Given the description of an element on the screen output the (x, y) to click on. 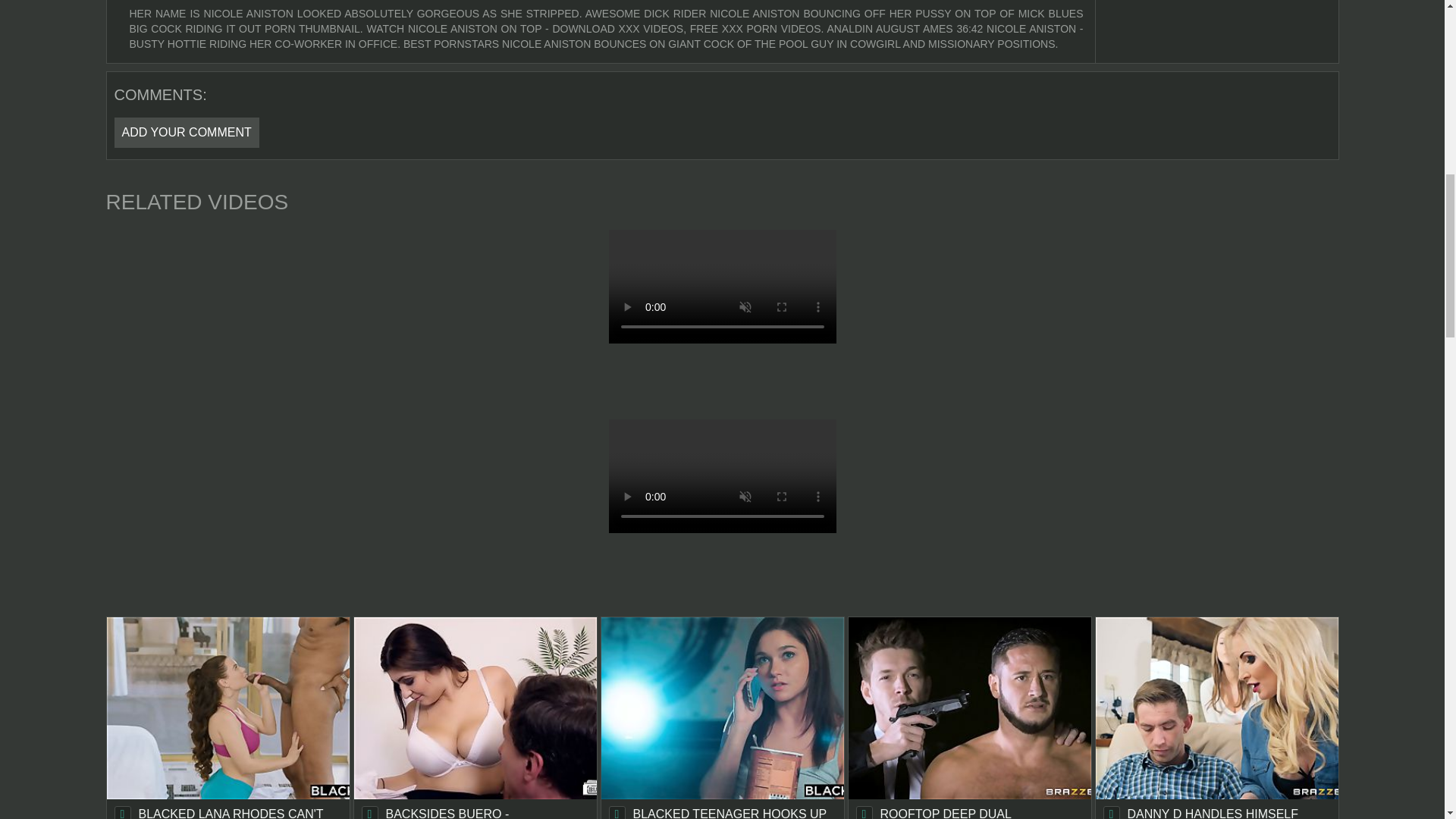
ROOFTOP DEEP DUAL PENETRATION FOR (968, 718)
BLACKED TEENAGER HOOKS UP WITH BIG BLACK (721, 718)
BACKSIDES BUERO - MISCHIEVOUS OFFICE (474, 718)
BLACKED LANA RHODES CAN'T STOP HOTWIFE (227, 718)
DANNY D HANDLES HIMSELF (1216, 718)
